Given the description of an element on the screen output the (x, y) to click on. 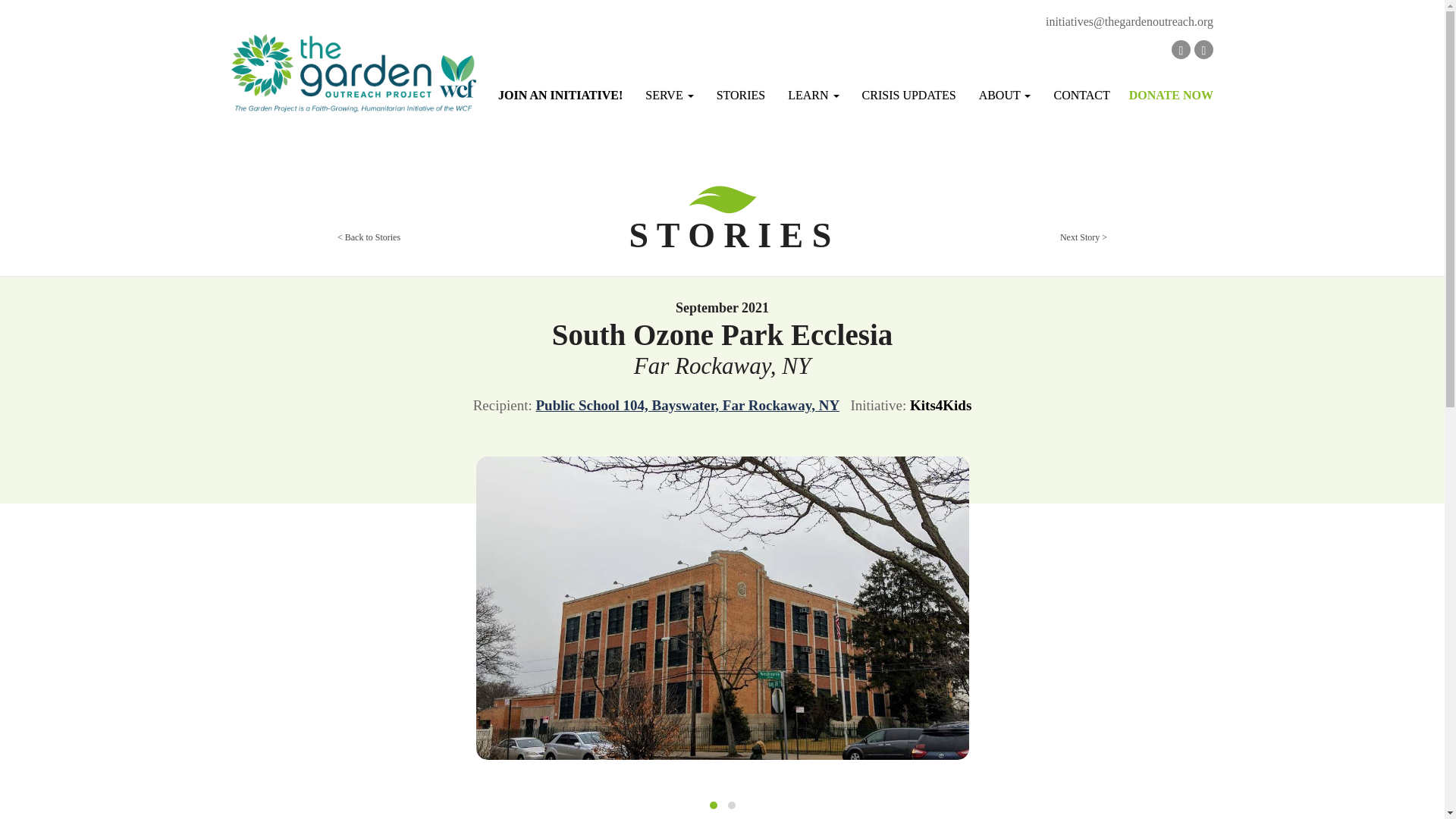
CONTACT (1081, 94)
ABOUT (1005, 94)
STORIES (740, 94)
DONATE NOW (1166, 99)
LEARN (813, 94)
CRISIS UPDATES (909, 94)
JOIN AN INITIATIVE! (559, 94)
SERVE (668, 94)
